Given the description of an element on the screen output the (x, y) to click on. 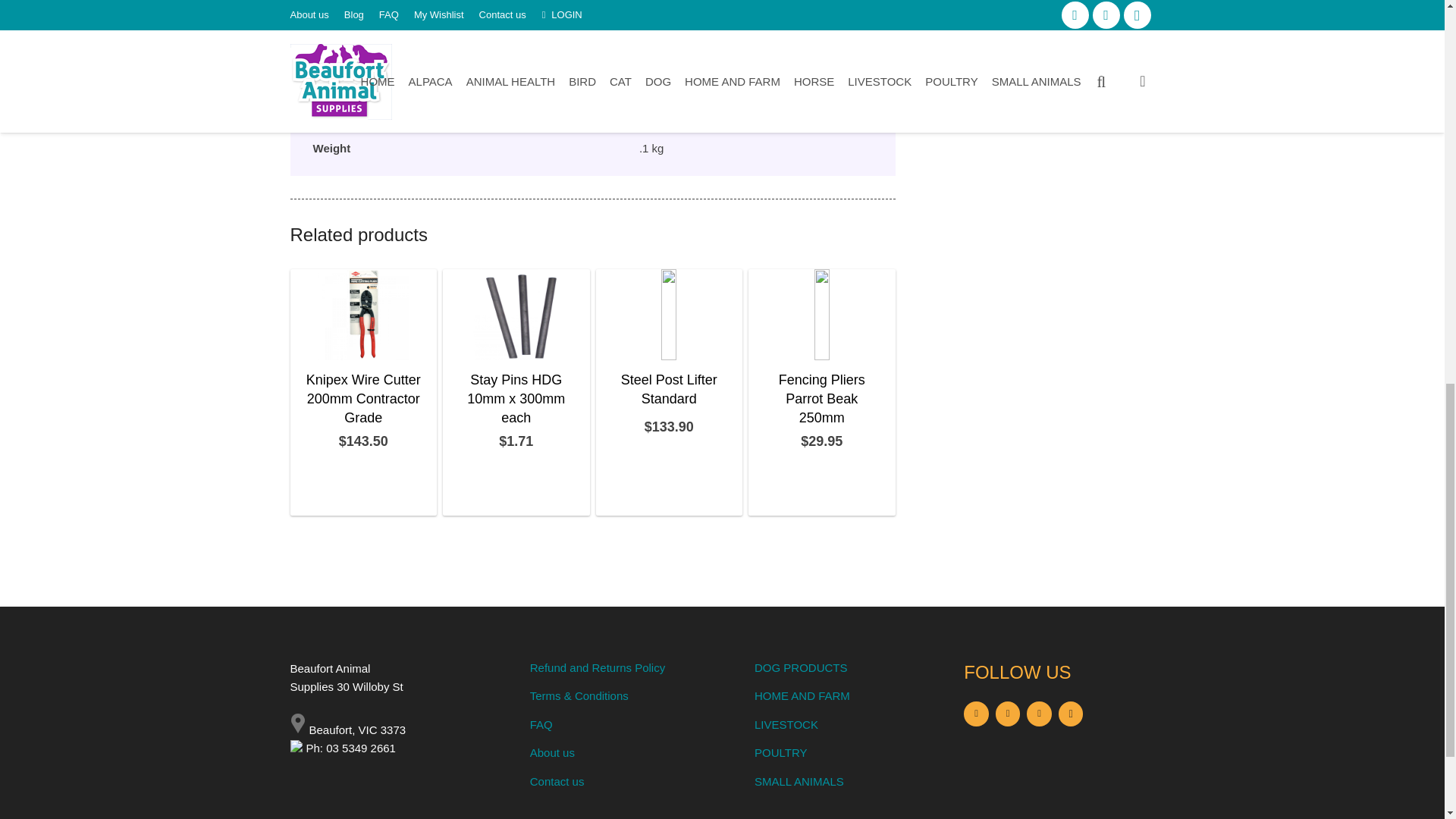
Email (975, 713)
Instagram (1070, 713)
Back to top (1413, 26)
Twitter (1038, 713)
Facebook (1007, 713)
